Given the description of an element on the screen output the (x, y) to click on. 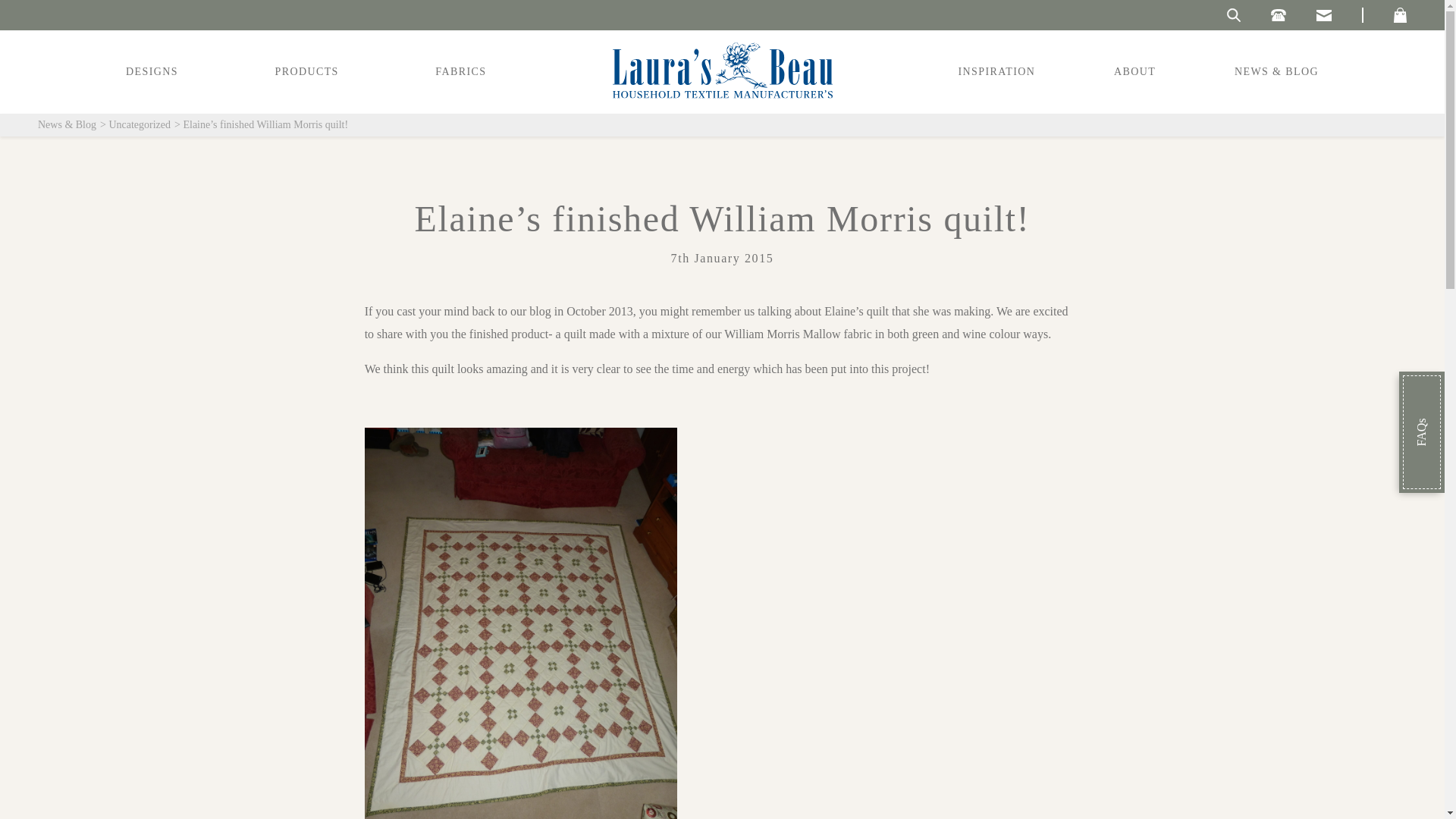
ABOUT (1134, 71)
Uncategorized (143, 124)
INSPIRATION (997, 71)
DESIGNS (151, 71)
FABRICS (460, 71)
PRODUCTS (306, 71)
blog in October 2013 (580, 310)
